Given the description of an element on the screen output the (x, y) to click on. 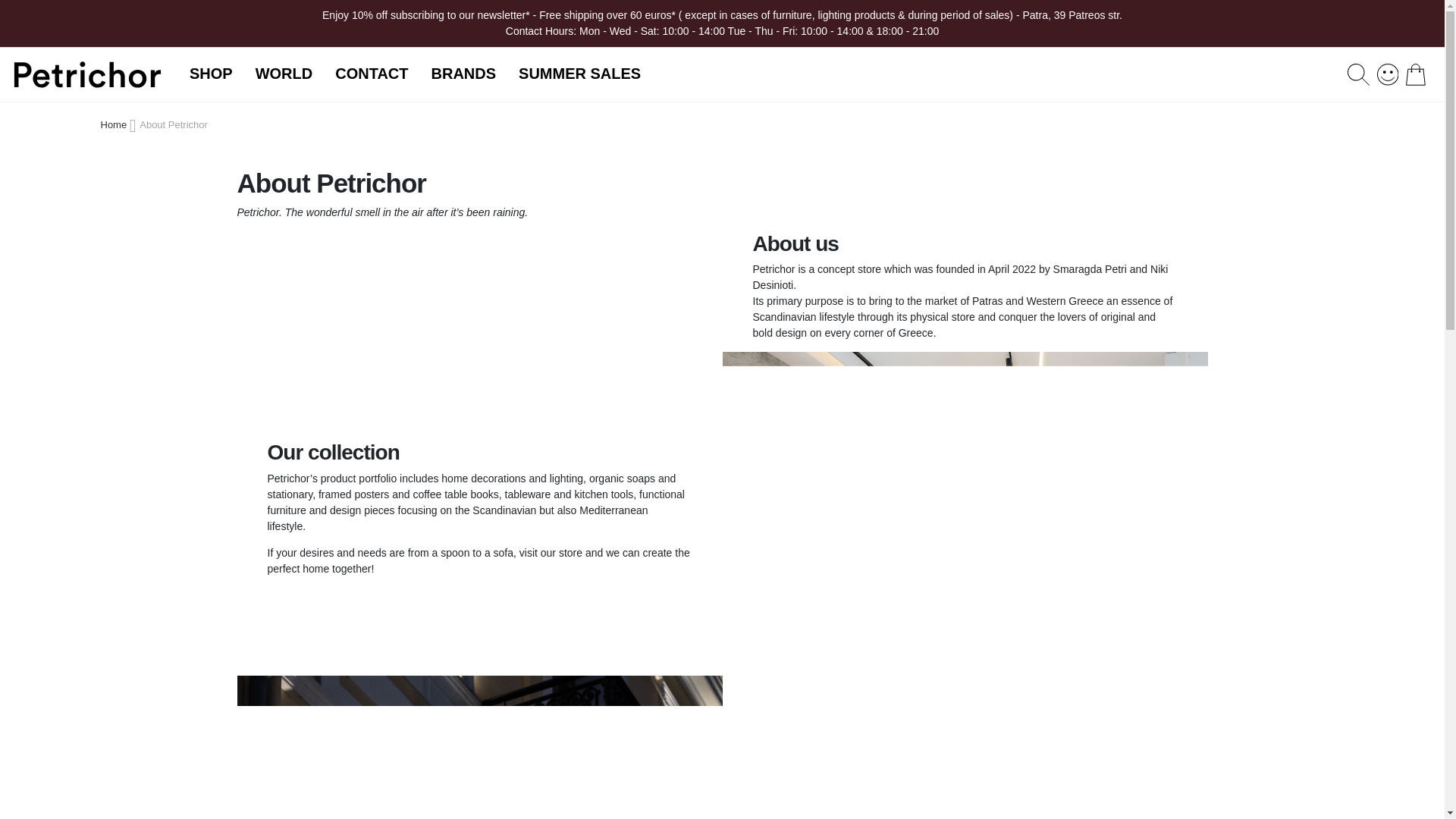
Furniture (419, 425)
All Products (452, 425)
Brands (406, 425)
Go to Home Page (114, 124)
Search (1357, 74)
Decoration (430, 425)
Outdoor (413, 425)
Homeware (428, 425)
Summer Sales (452, 425)
Kitchen (409, 425)
New Arrivals (441, 425)
Tableware (425, 425)
My Account (1388, 73)
